Given the description of an element on the screen output the (x, y) to click on. 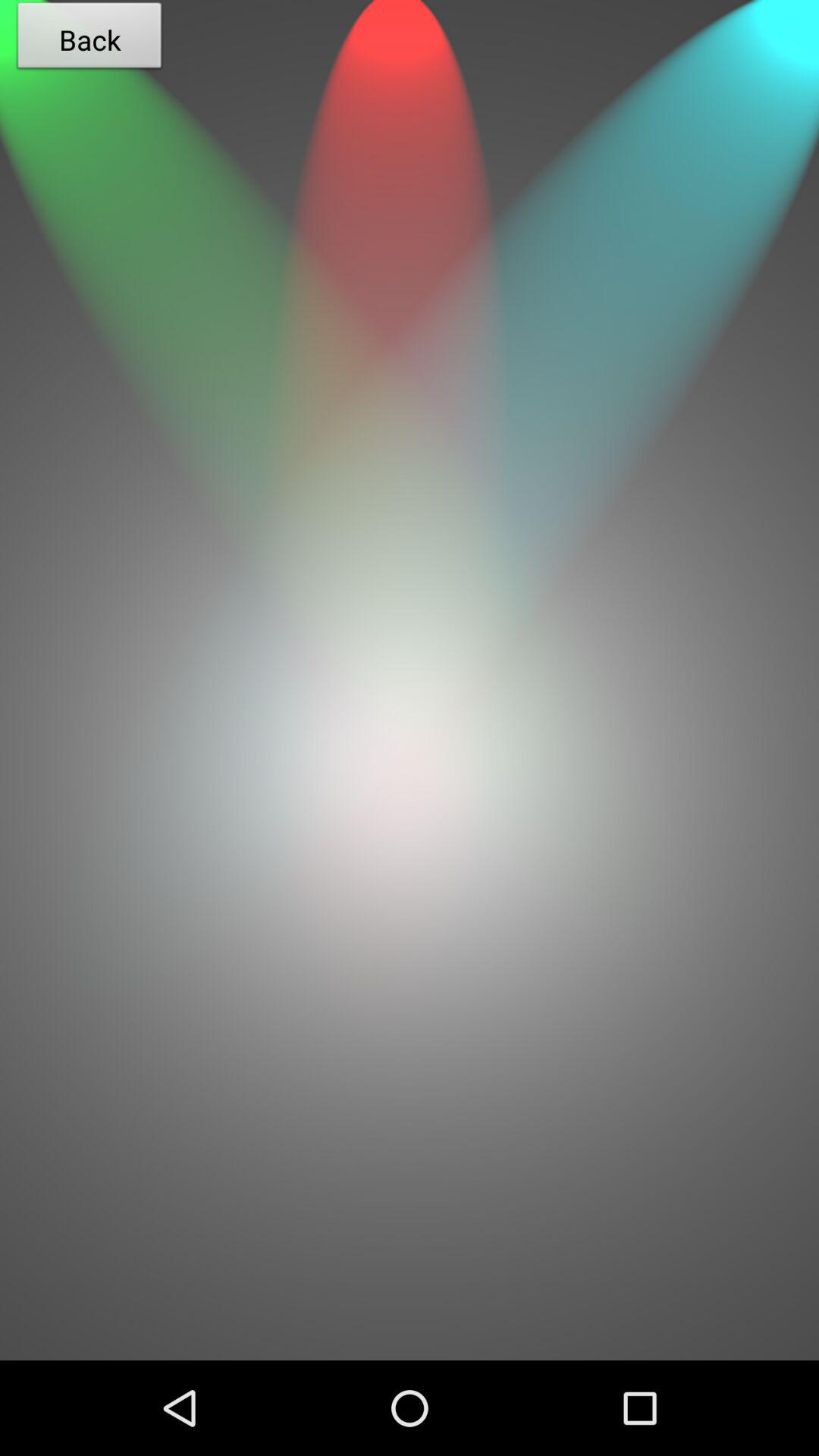
go to back (409, 1111)
